Given the description of an element on the screen output the (x, y) to click on. 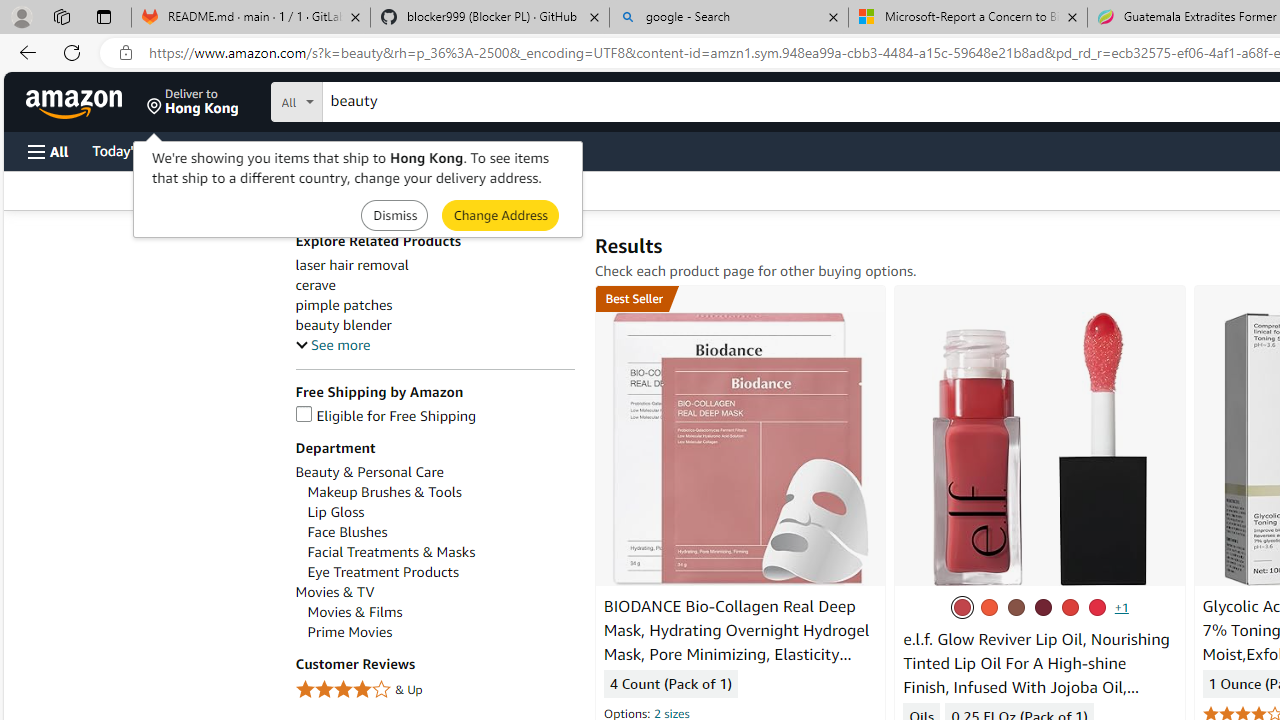
4 Stars & Up (434, 690)
Rose Envy (962, 607)
Beauty & Personal Care (434, 471)
Customer Service (256, 150)
beauty blender (434, 325)
Prime Movies (440, 632)
Movies & Films (355, 612)
Amazon (76, 101)
